Given the description of an element on the screen output the (x, y) to click on. 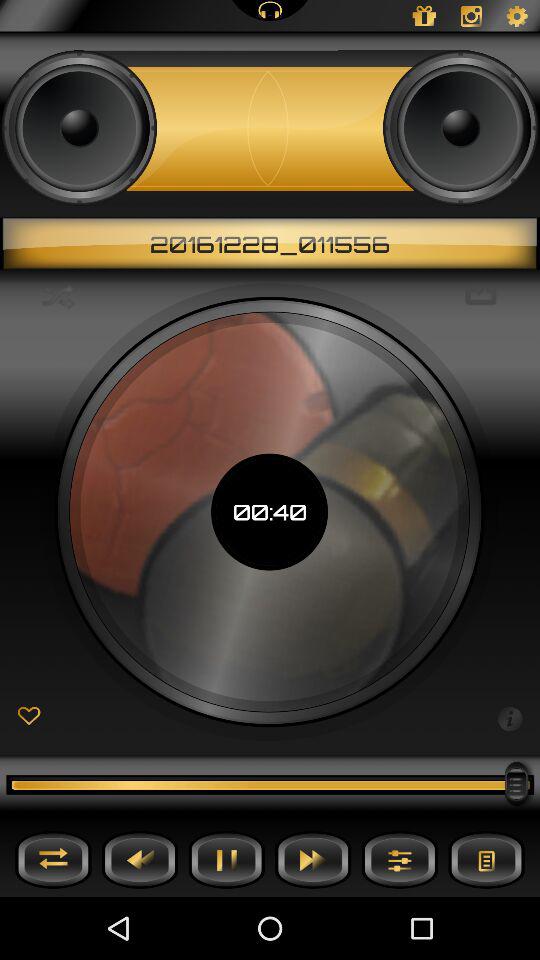
switch (53, 859)
